Given the description of an element on the screen output the (x, y) to click on. 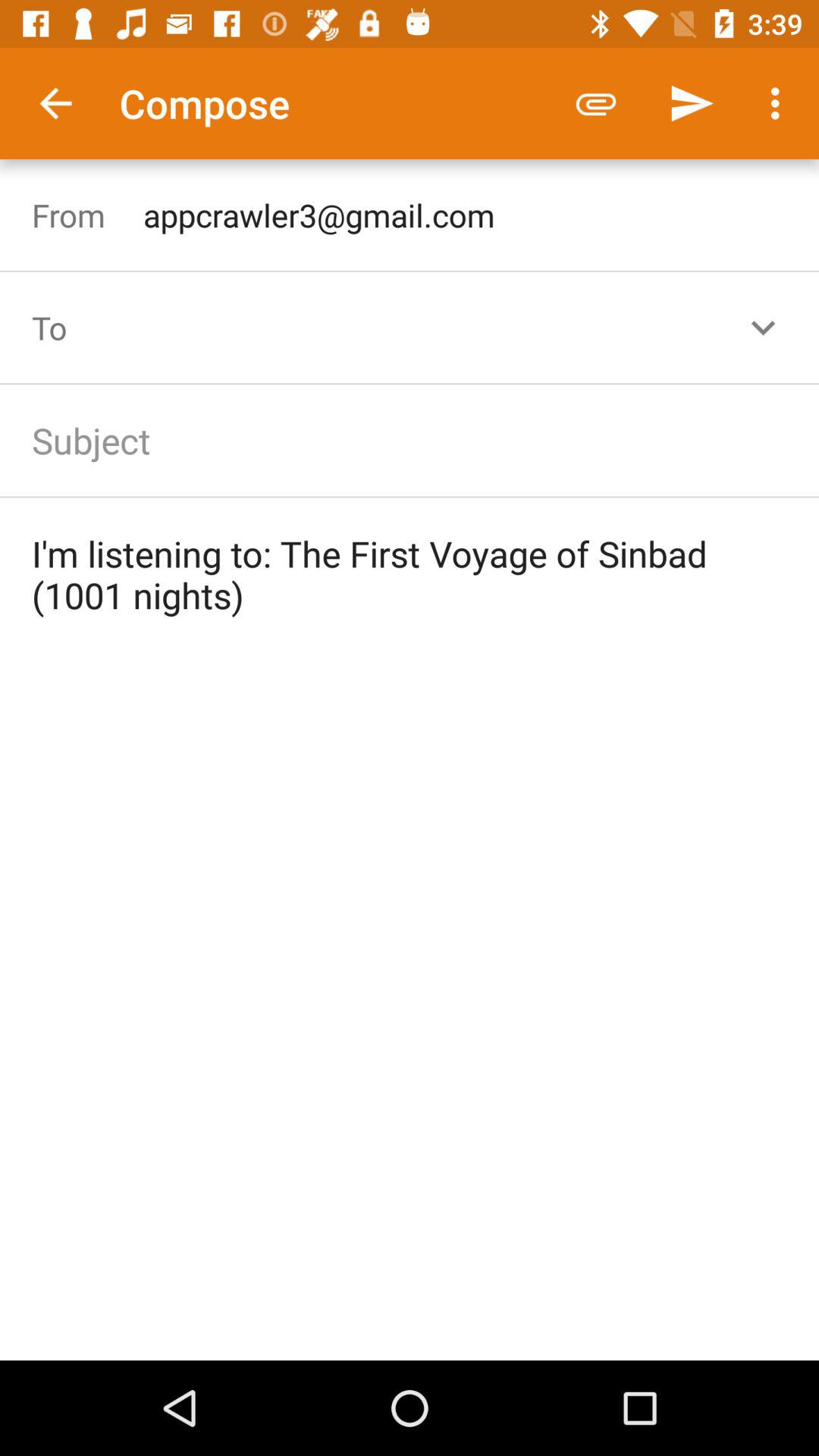
tap the app next to compose (55, 103)
